Given the description of an element on the screen output the (x, y) to click on. 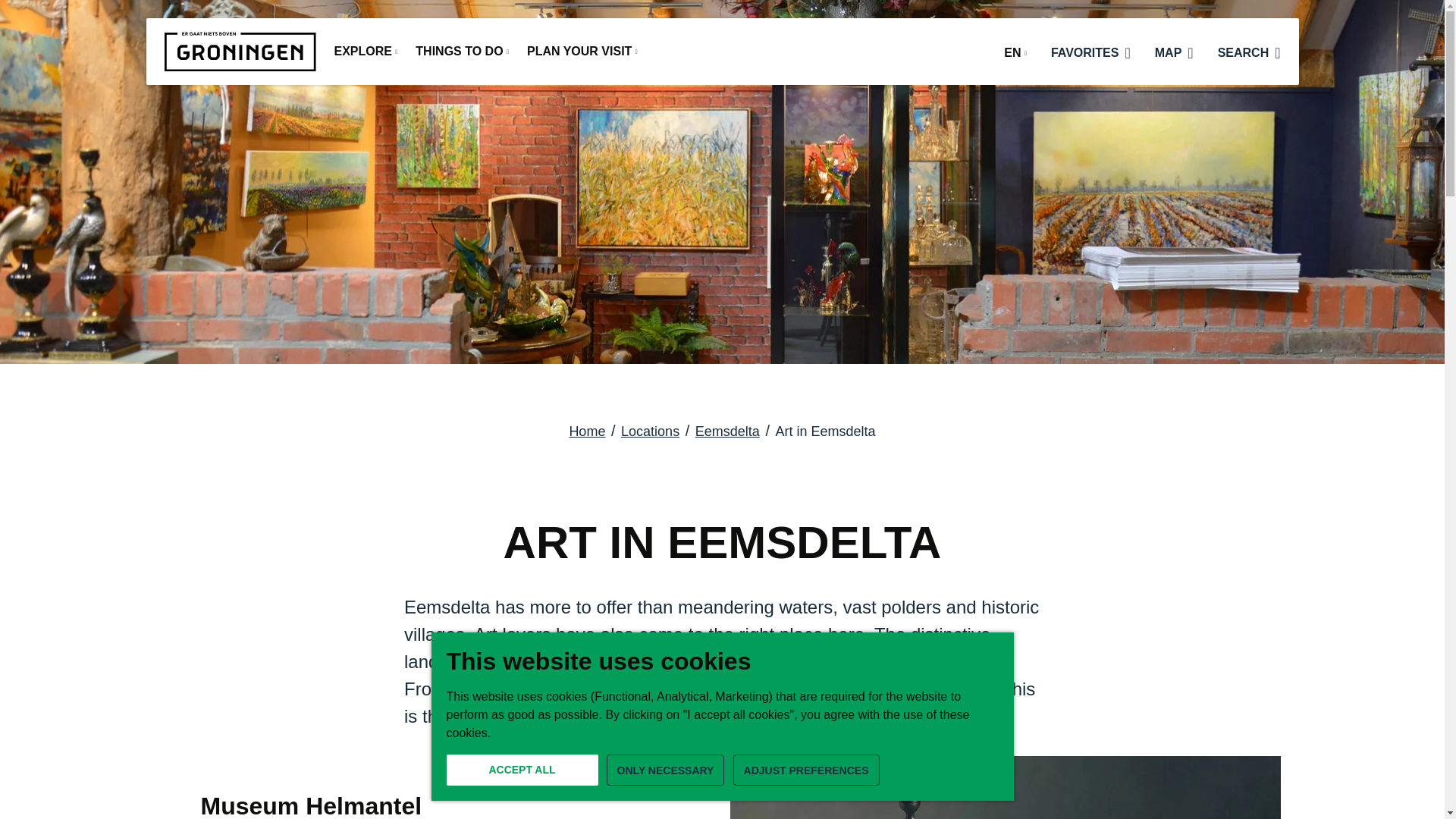
ADJUST PREFERENCES (806, 769)
Home (587, 431)
MAP (1173, 50)
SEARCH (1249, 50)
EN (1015, 54)
PLAN YOUR VISIT (582, 52)
Art in Eemsdelta (826, 431)
FAVORITES (1091, 50)
Visit Groningen (239, 51)
ONLY NECESSARY (666, 769)
Search (1277, 52)
Eemsdelta (727, 431)
Visit Groningen (239, 51)
Favorites (1126, 52)
EXPLORE (365, 52)
